Given the description of an element on the screen output the (x, y) to click on. 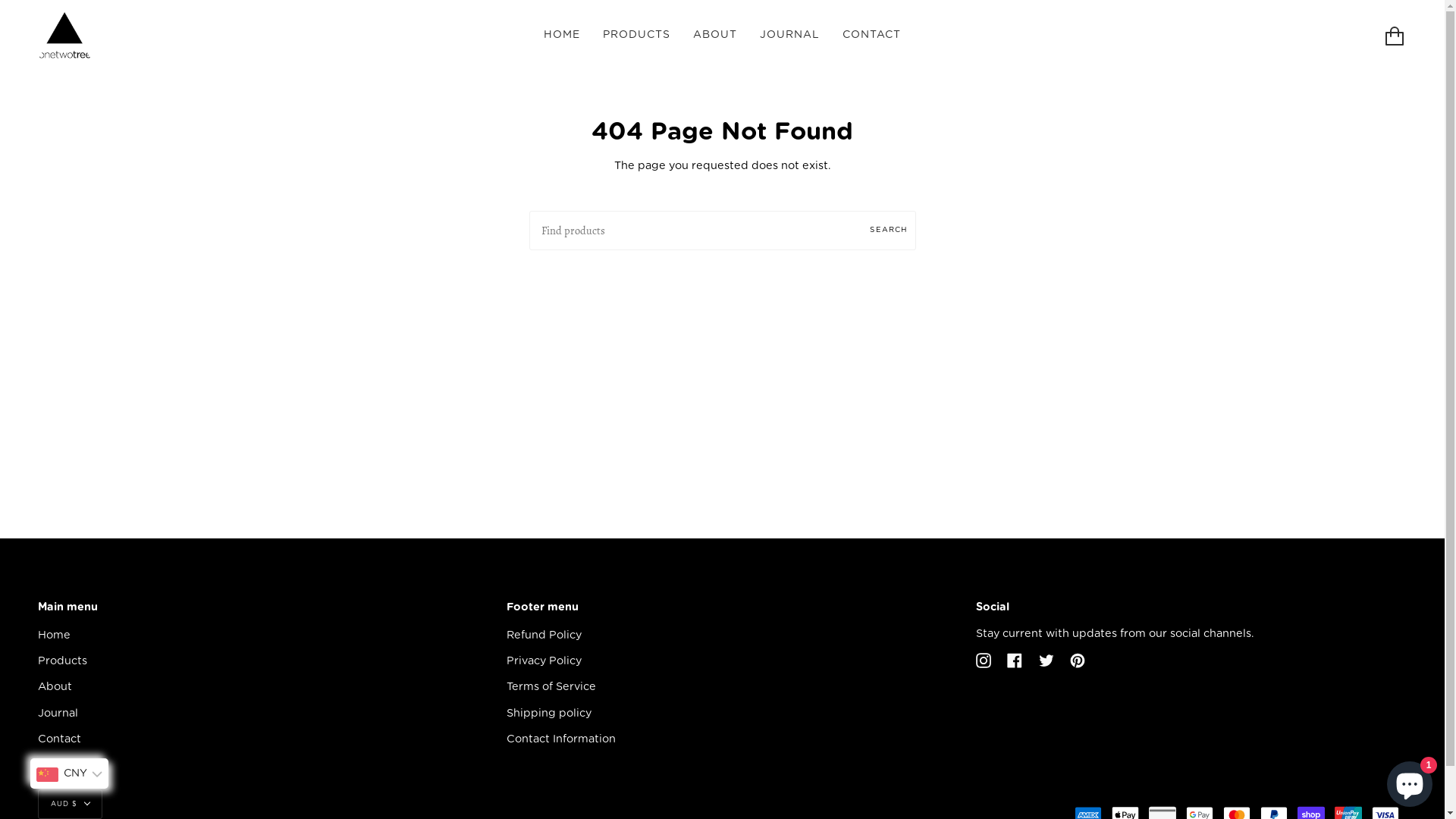
CONTACT Element type: text (871, 35)
Contact Information Element type: text (560, 738)
PRODUCTS Element type: text (636, 35)
Terms of Service Element type: text (551, 686)
HOME Element type: text (561, 35)
Refund Policy Element type: text (543, 634)
Home Element type: text (53, 634)
Pinterest Element type: text (1077, 659)
SEARCH Element type: text (888, 230)
Shopify online store chat Element type: hover (1409, 780)
ABOUT Element type: text (714, 35)
JOURNAL Element type: text (789, 35)
Journal Element type: text (57, 712)
Shipping policy Element type: text (548, 712)
Privacy Policy Element type: text (543, 660)
Facebook Element type: text (1014, 659)
Products Element type: text (62, 660)
Cart Element type: text (1394, 35)
Instagram Element type: text (983, 659)
Contact Element type: text (59, 738)
Twitter Element type: text (1046, 659)
About Element type: text (54, 686)
